Given the description of an element on the screen output the (x, y) to click on. 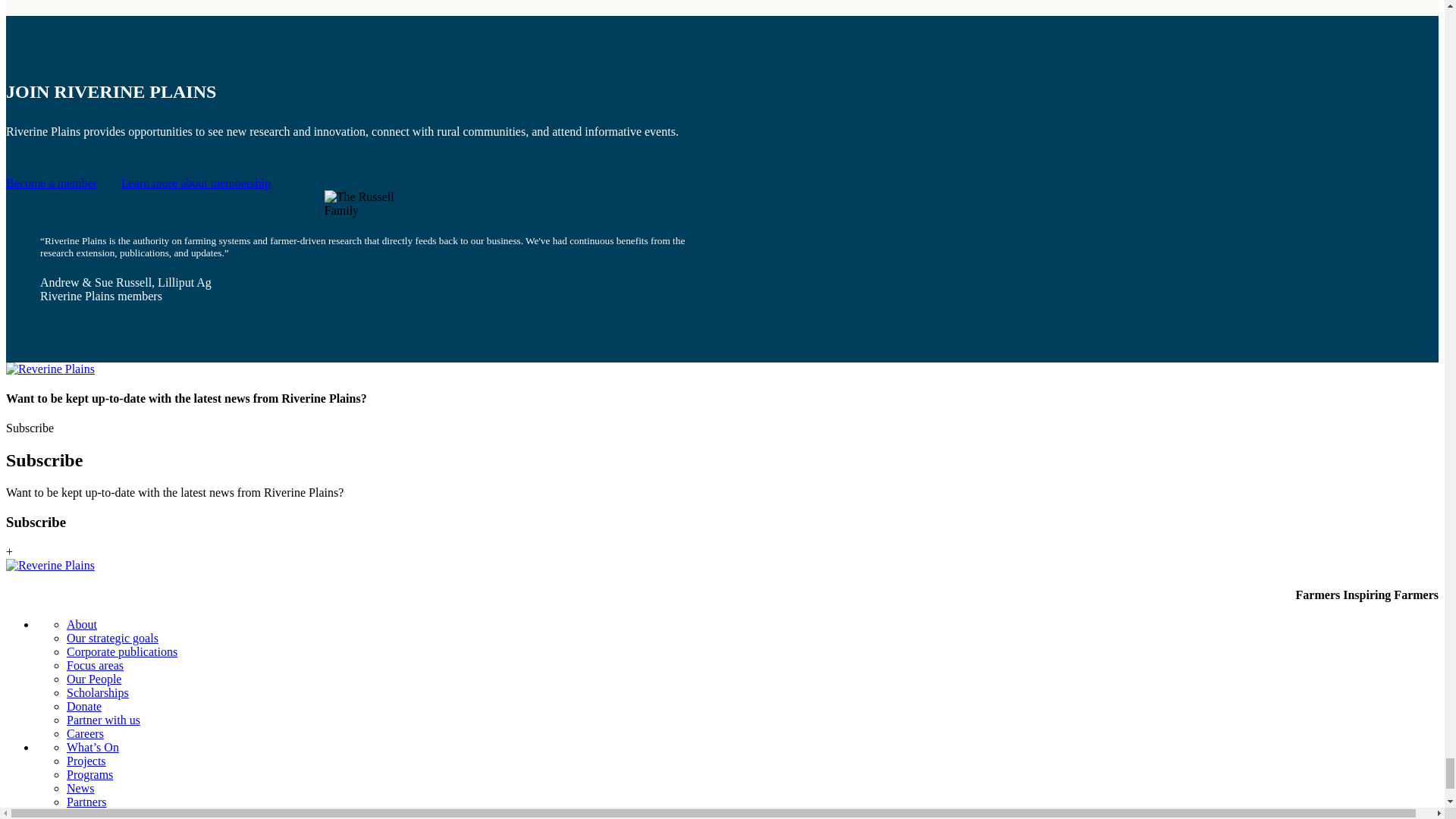
Reverine Plains (49, 565)
Reverine Plains (49, 368)
